Given the description of an element on the screen output the (x, y) to click on. 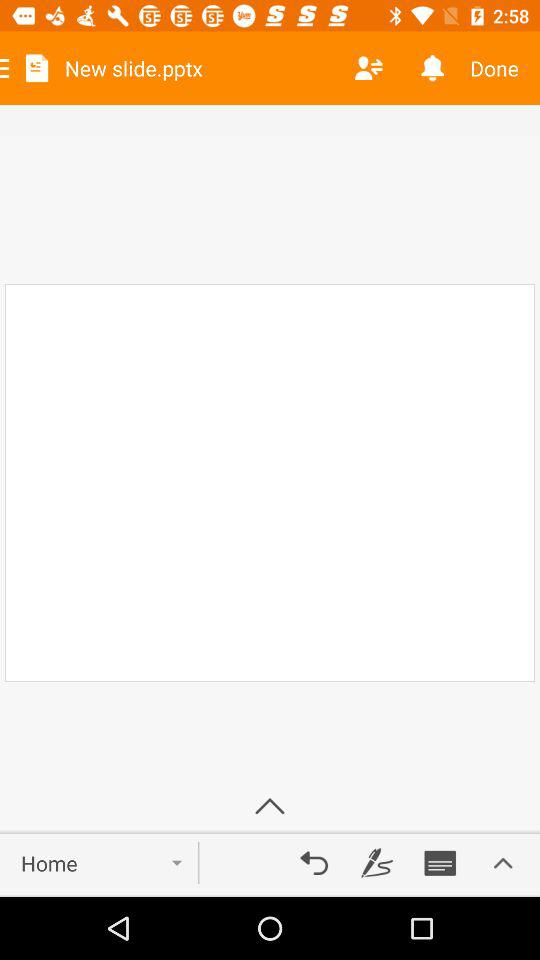
save (440, 863)
